Given the description of an element on the screen output the (x, y) to click on. 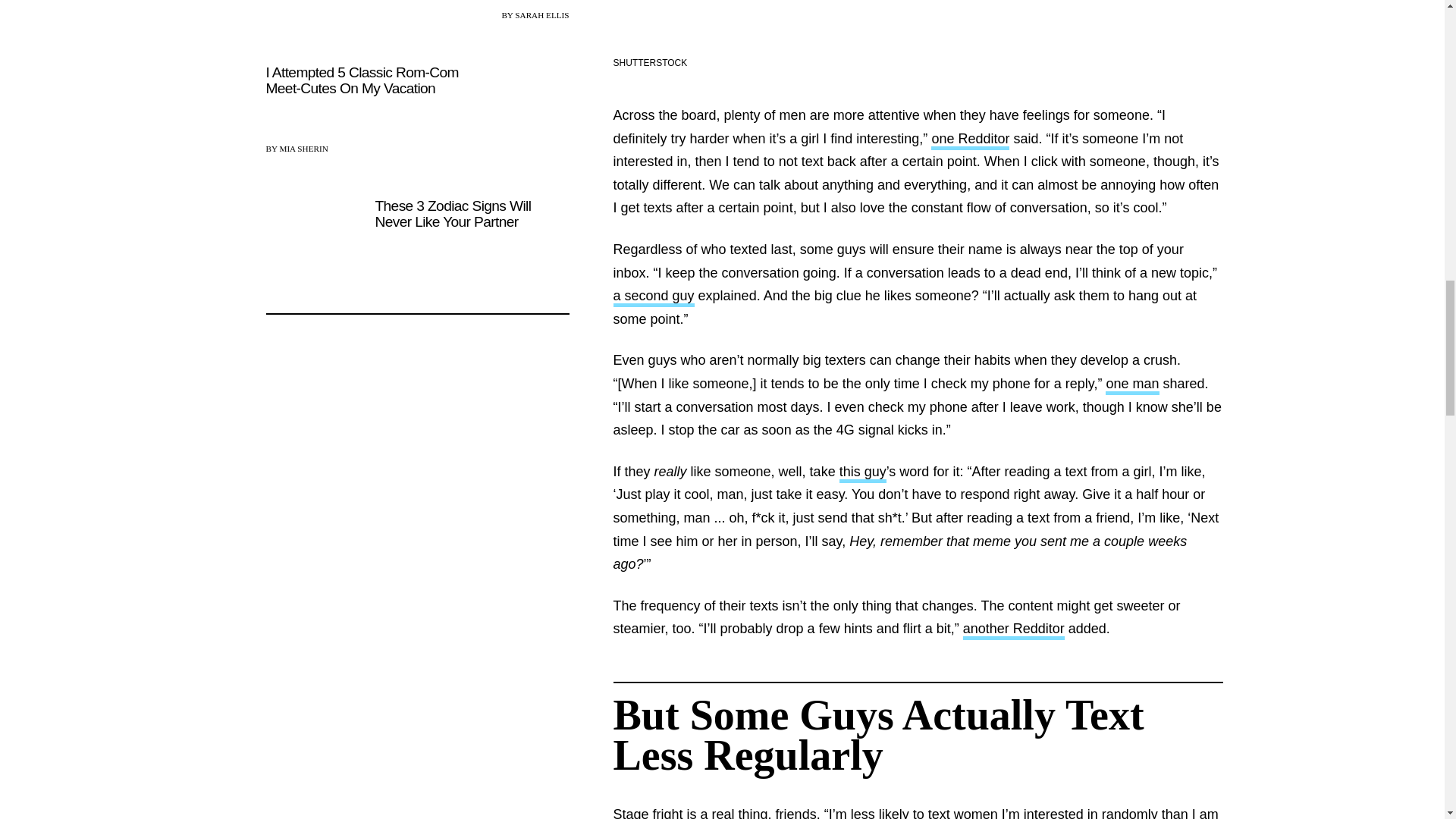
These 3 Zodiac Signs Will Never Like Your Partner (416, 243)
another Redditor (1013, 629)
this guy (863, 473)
one man (1131, 384)
one Redditor (970, 140)
a second guy (653, 297)
